Given the description of an element on the screen output the (x, y) to click on. 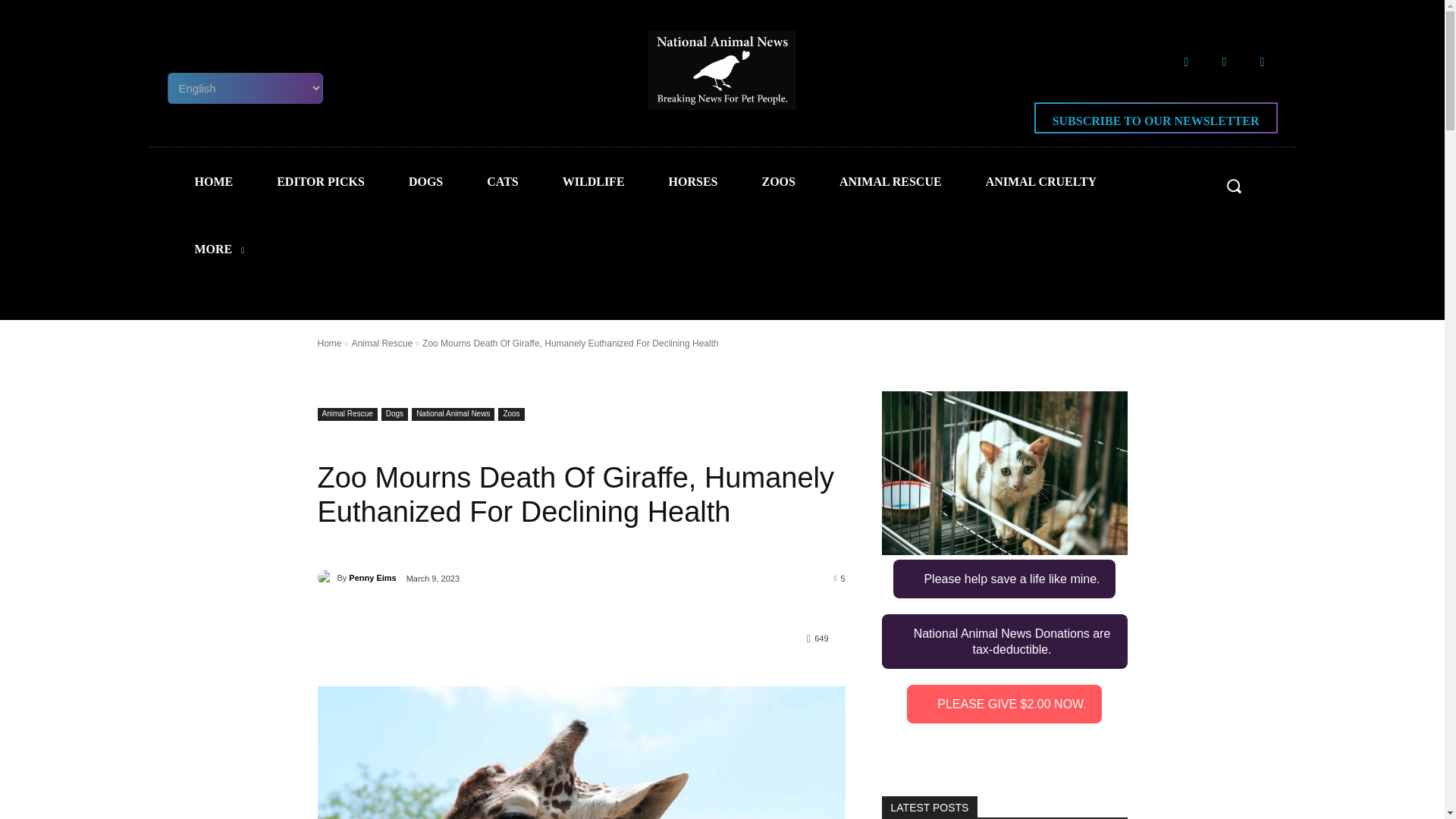
Youtube (1261, 61)
SUBSCRIBE TO OUR NEWSLETTER (1155, 117)
ANIMAL CRUELTY (1041, 181)
Home (328, 343)
ANIMAL RESCUE (891, 181)
Subscribe to our newsletter (1155, 117)
WILDLIFE (593, 181)
EDITOR PICKS (320, 181)
Penny Eims (326, 577)
Join (1076, 243)
Twitter (1223, 61)
Join (565, 430)
View all posts in Animal Rescue (381, 343)
Facebook (1185, 61)
